Given the description of an element on the screen output the (x, y) to click on. 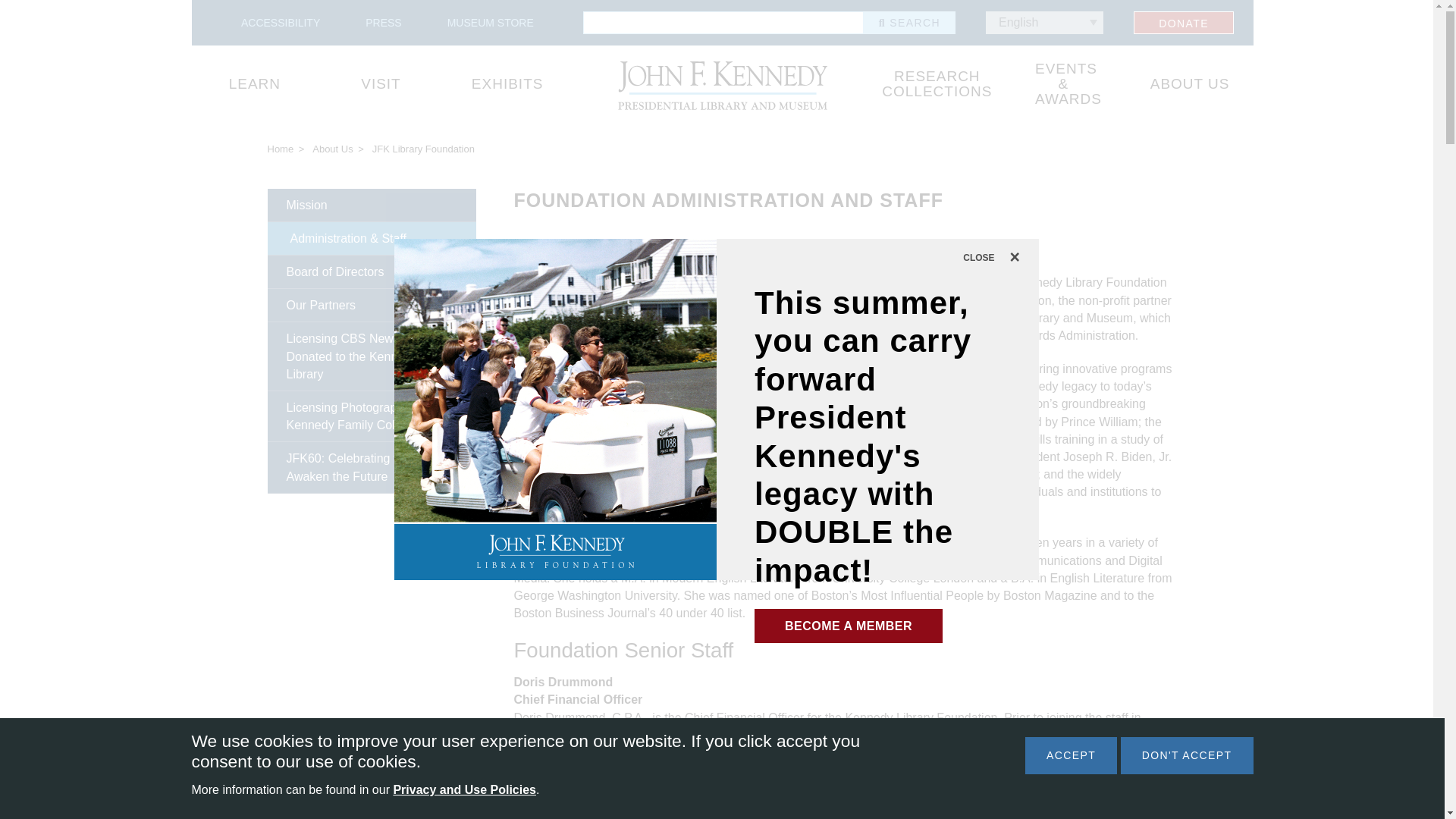
Rachel Day Flor headshot (603, 340)
Test accessibility link description (280, 22)
Rachel Day Flor headshot (597, 340)
